Given the description of an element on the screen output the (x, y) to click on. 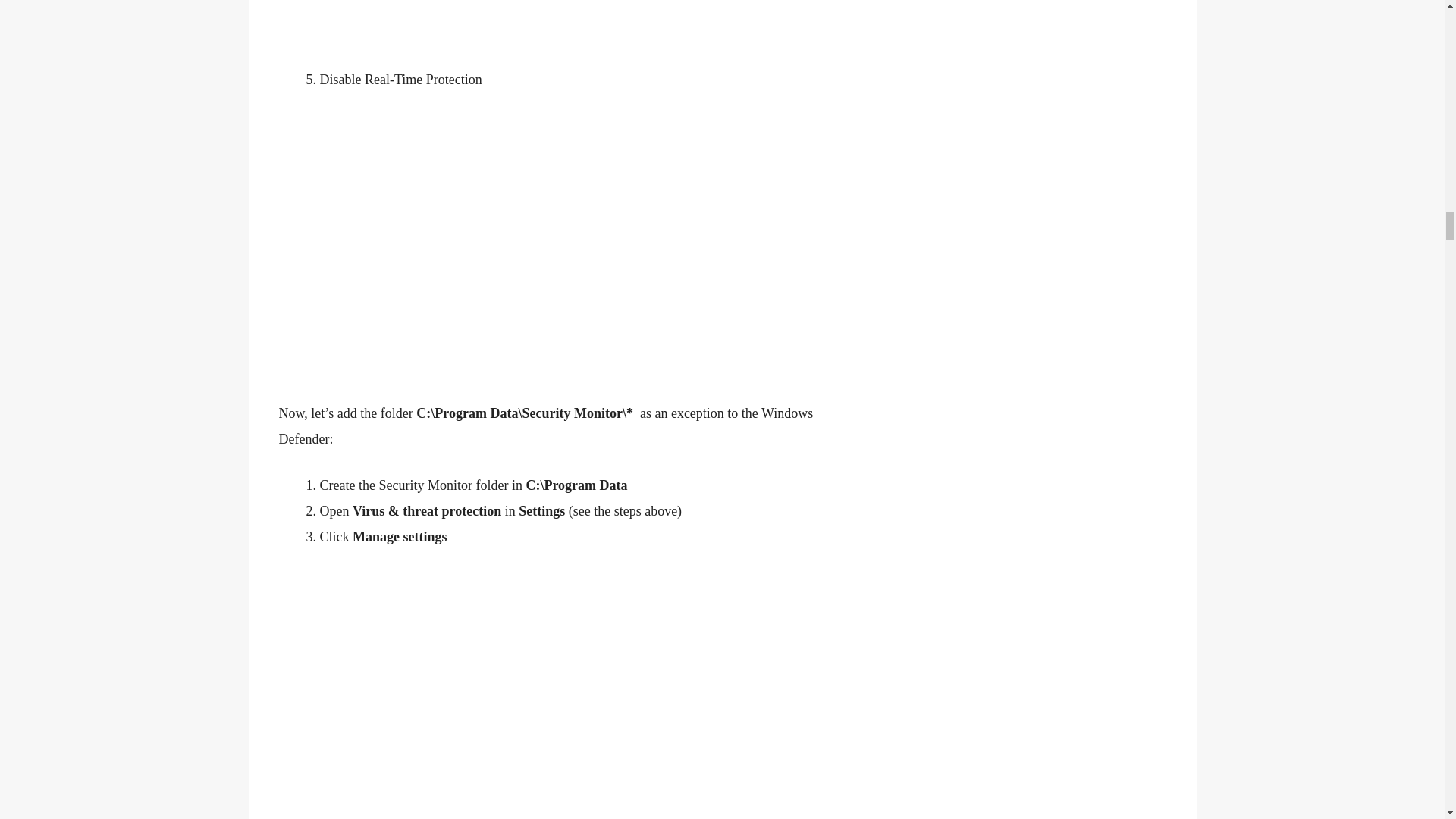
windows-settings-virus-protection (552, 33)
